Given the description of an element on the screen output the (x, y) to click on. 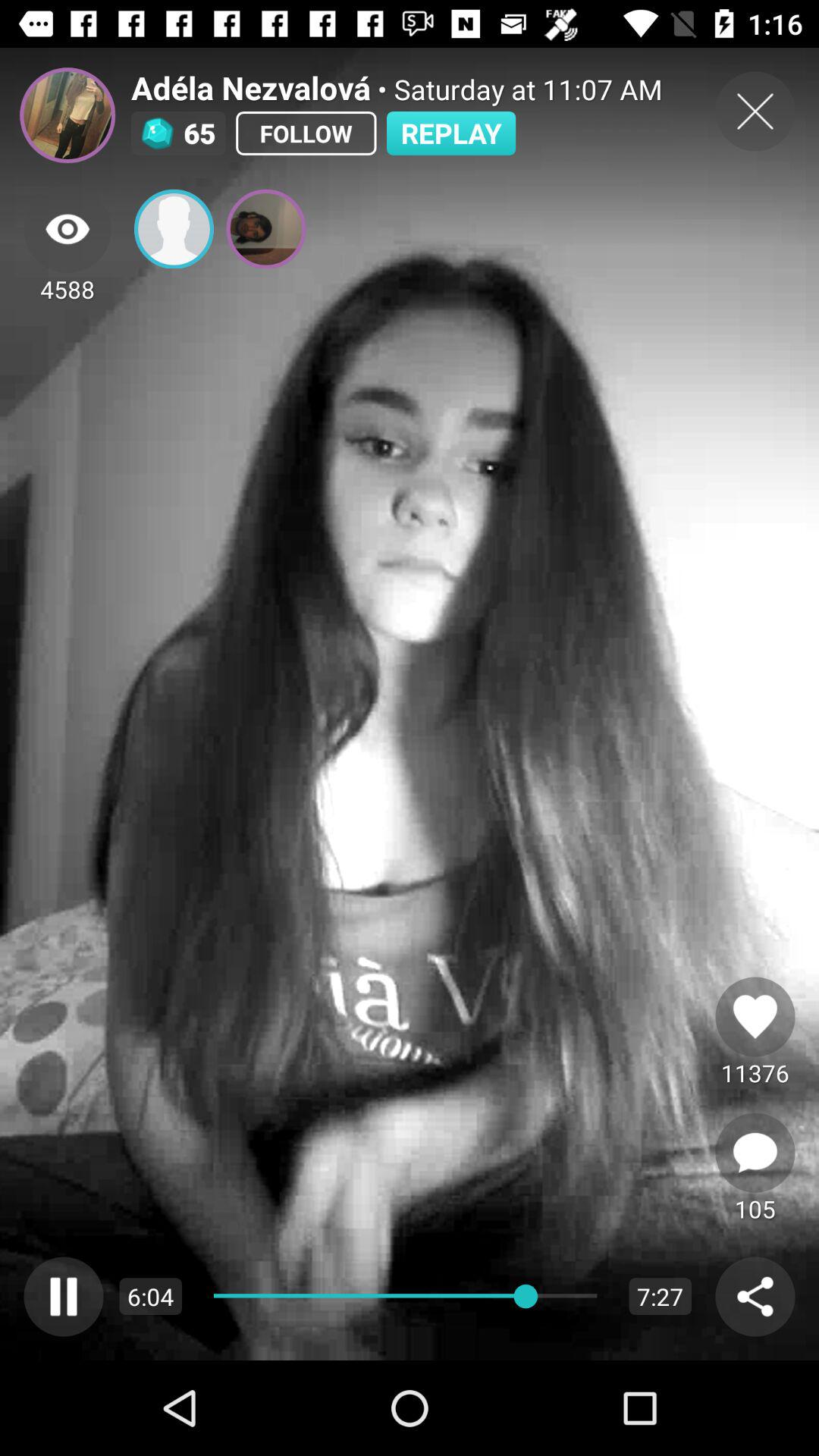
faverad (755, 1016)
